Given the description of an element on the screen output the (x, y) to click on. 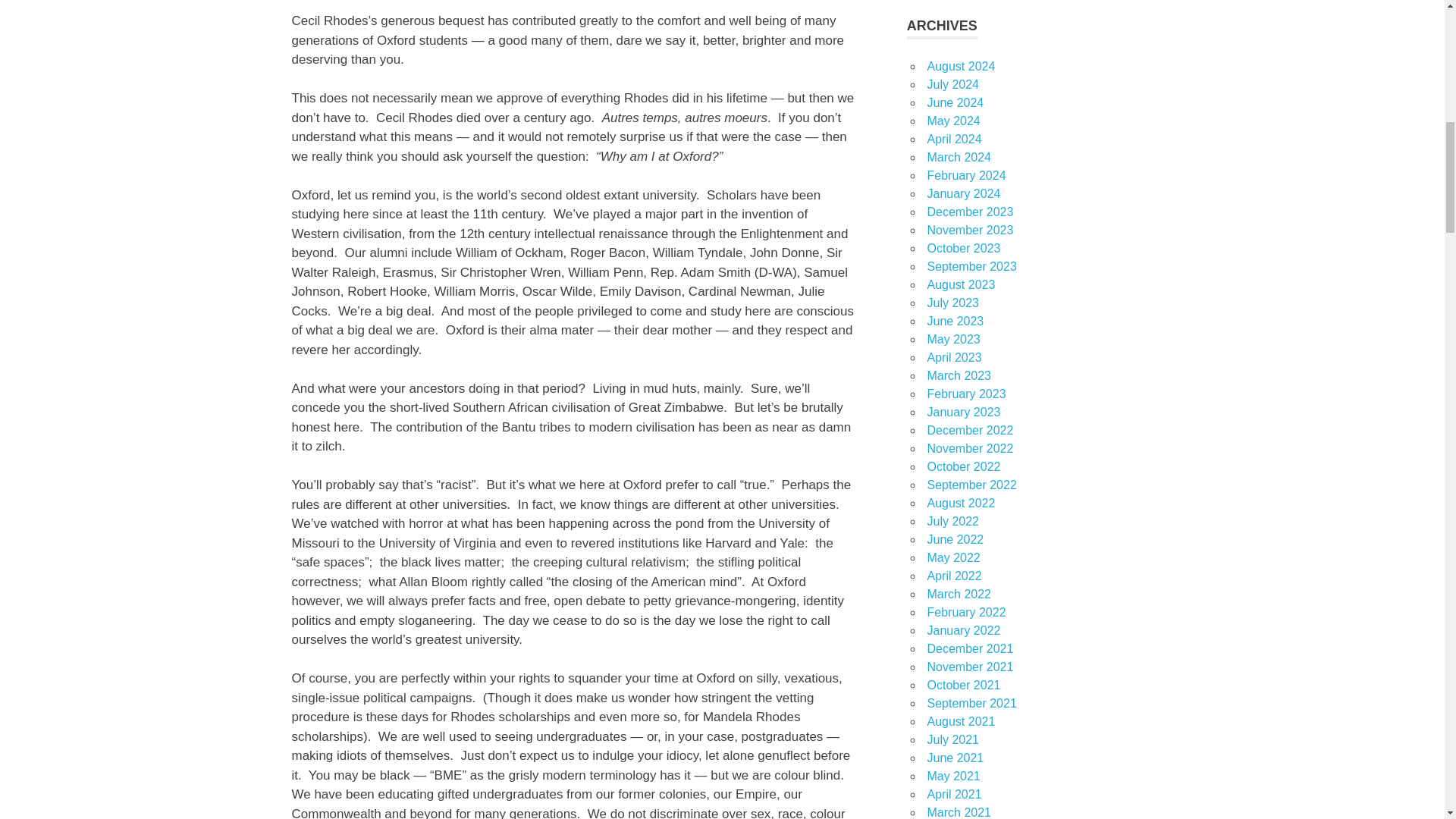
June 2024 (955, 102)
May 2024 (952, 120)
August 2024 (960, 65)
July 2024 (952, 83)
April 2024 (953, 138)
